Given the description of an element on the screen output the (x, y) to click on. 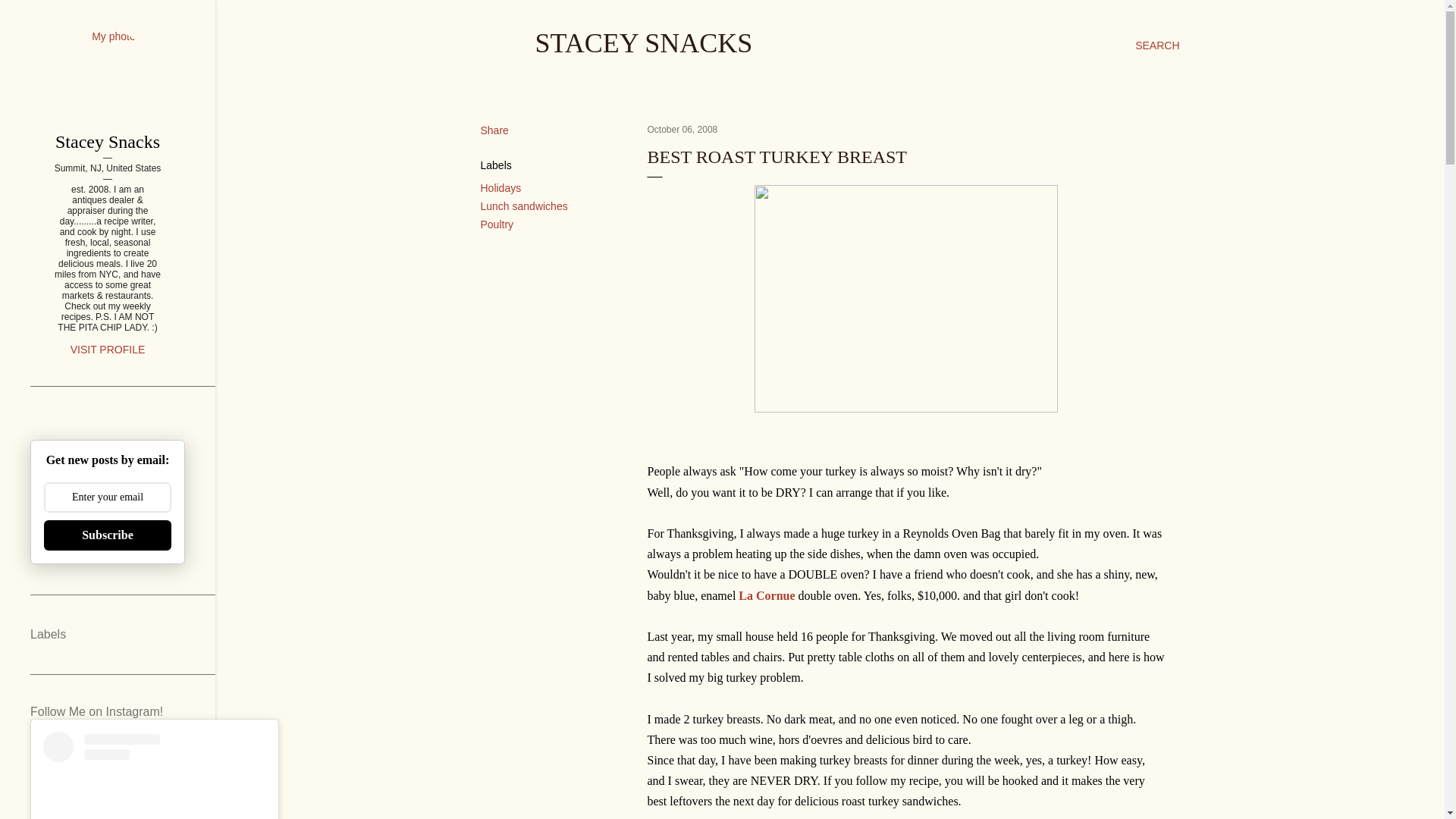
Lunch sandwiches (523, 205)
SEARCH (1157, 45)
Share (494, 130)
La Cornue (766, 594)
STACEY SNACKS (643, 42)
October 06, 2008 (682, 129)
Holidays (500, 187)
permanent link (682, 129)
Poultry (496, 224)
